Given the description of an element on the screen output the (x, y) to click on. 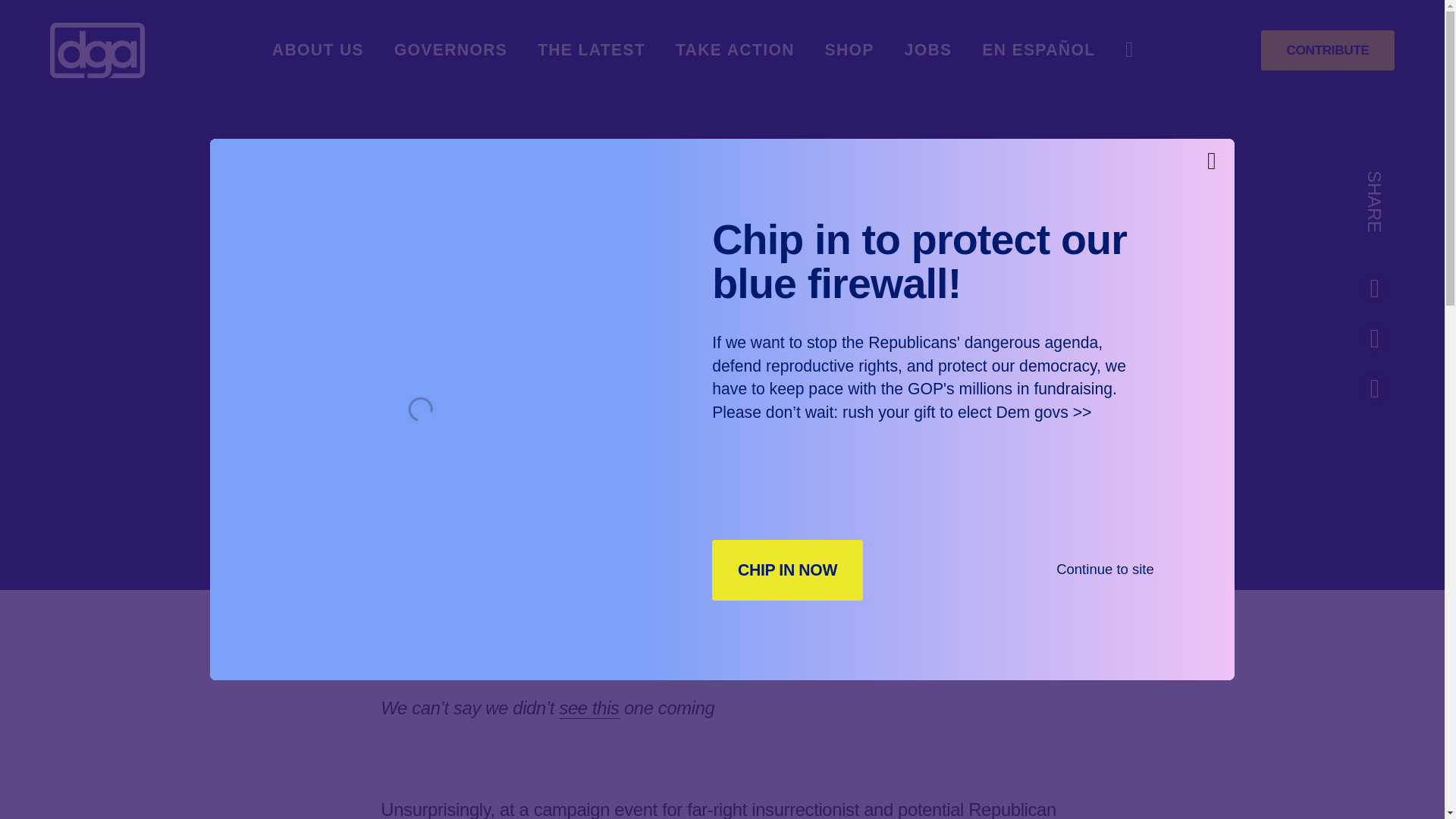
GOVERNORS (451, 49)
Continue to site (1105, 569)
TAKE ACTION (734, 49)
see this (588, 707)
ABOUT US (318, 49)
SHOP (850, 49)
JOBS (928, 49)
LATEST NEWS (656, 510)
CHIP IN NOW (787, 569)
THE LATEST (591, 49)
